Given the description of an element on the screen output the (x, y) to click on. 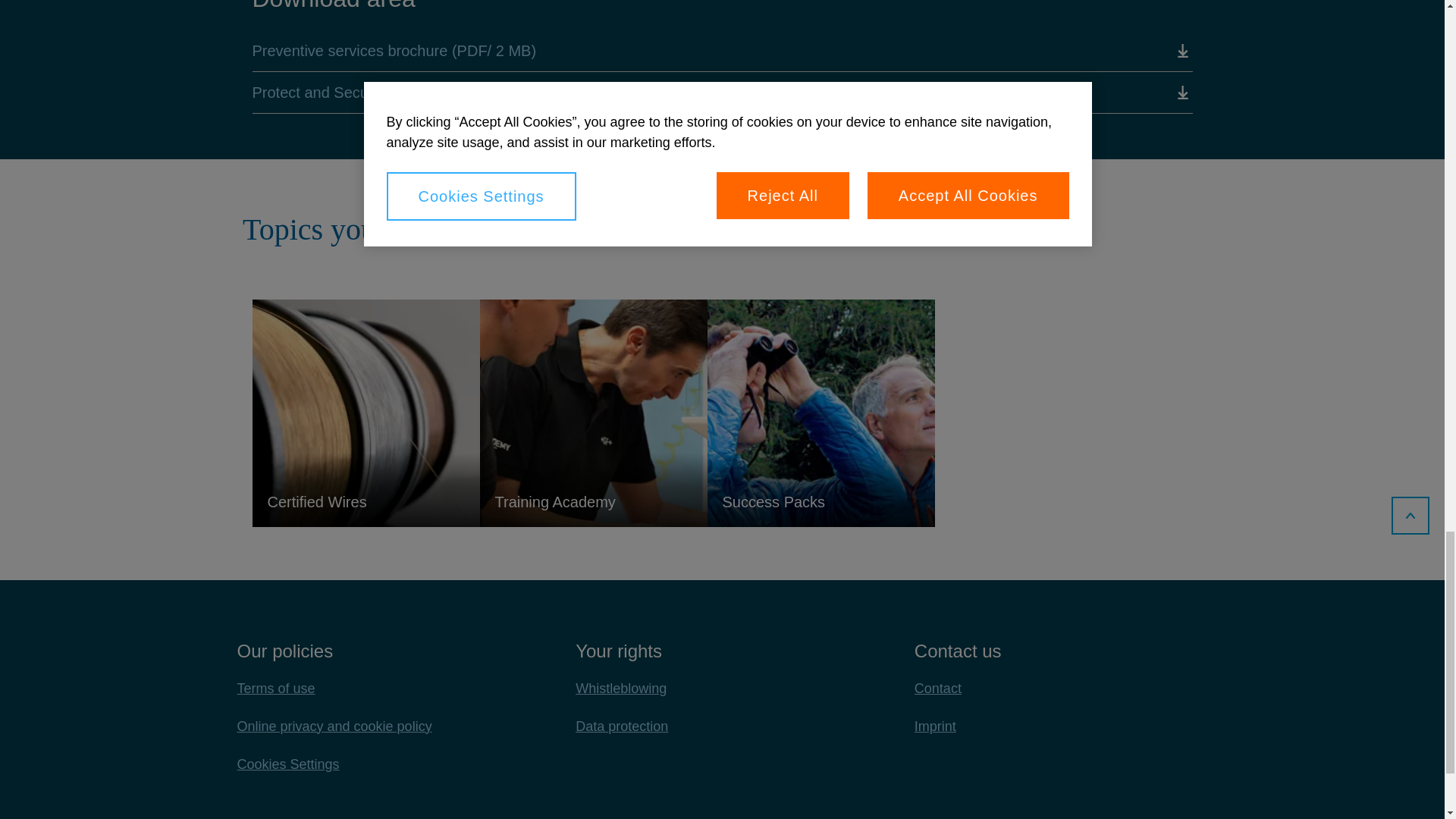
to top (1410, 514)
